Given the description of an element on the screen output the (x, y) to click on. 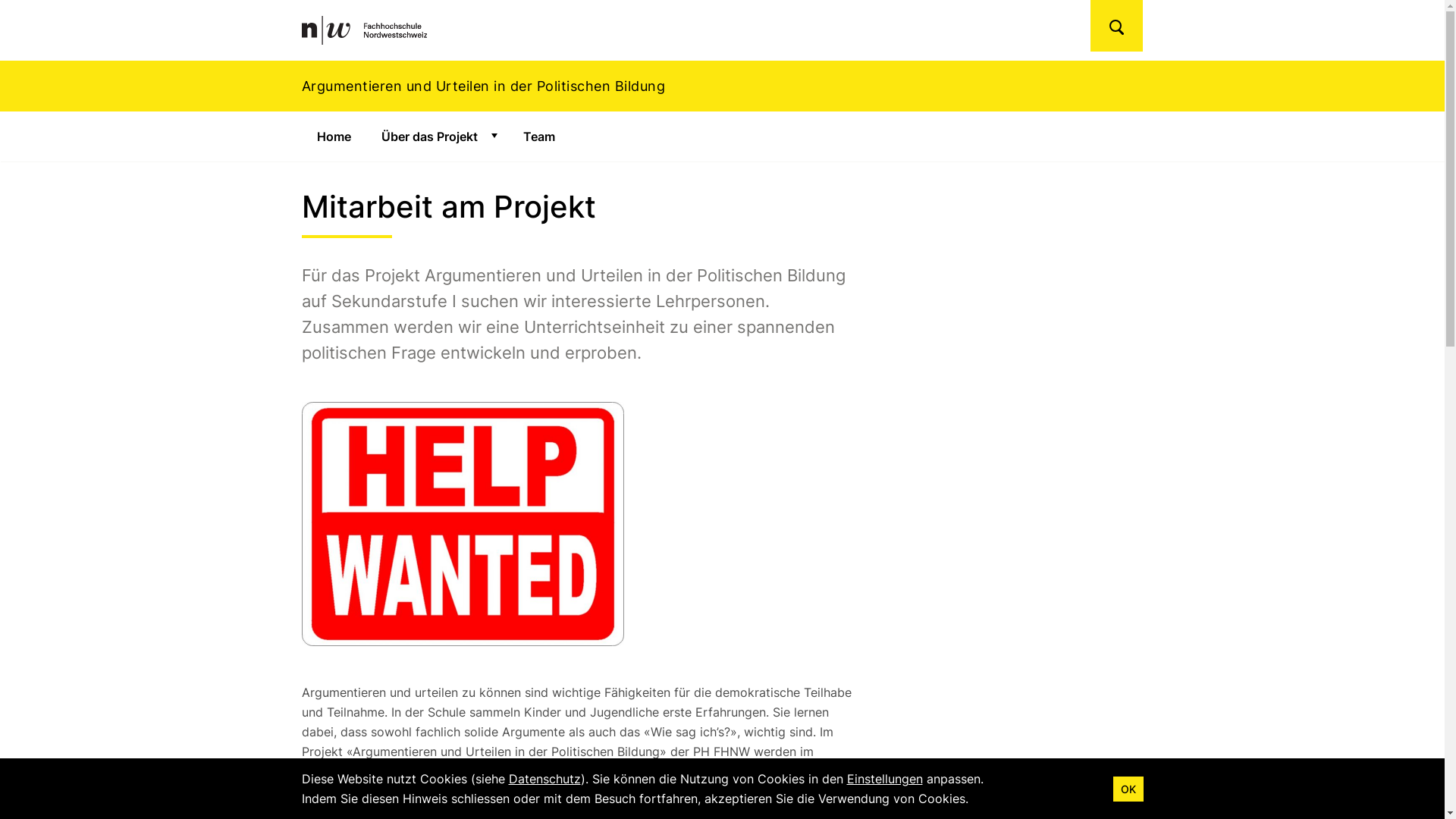
Team Element type: text (539, 136)
Home Element type: text (333, 136)
Einstellungen Element type: text (884, 778)
OK Element type: text (1128, 788)
Suchen Element type: text (1116, 25)
Argumentieren und Urteilen in der Politischen Bildung Element type: text (722, 86)
Datenschutz Element type: text (544, 778)
